Given the description of an element on the screen output the (x, y) to click on. 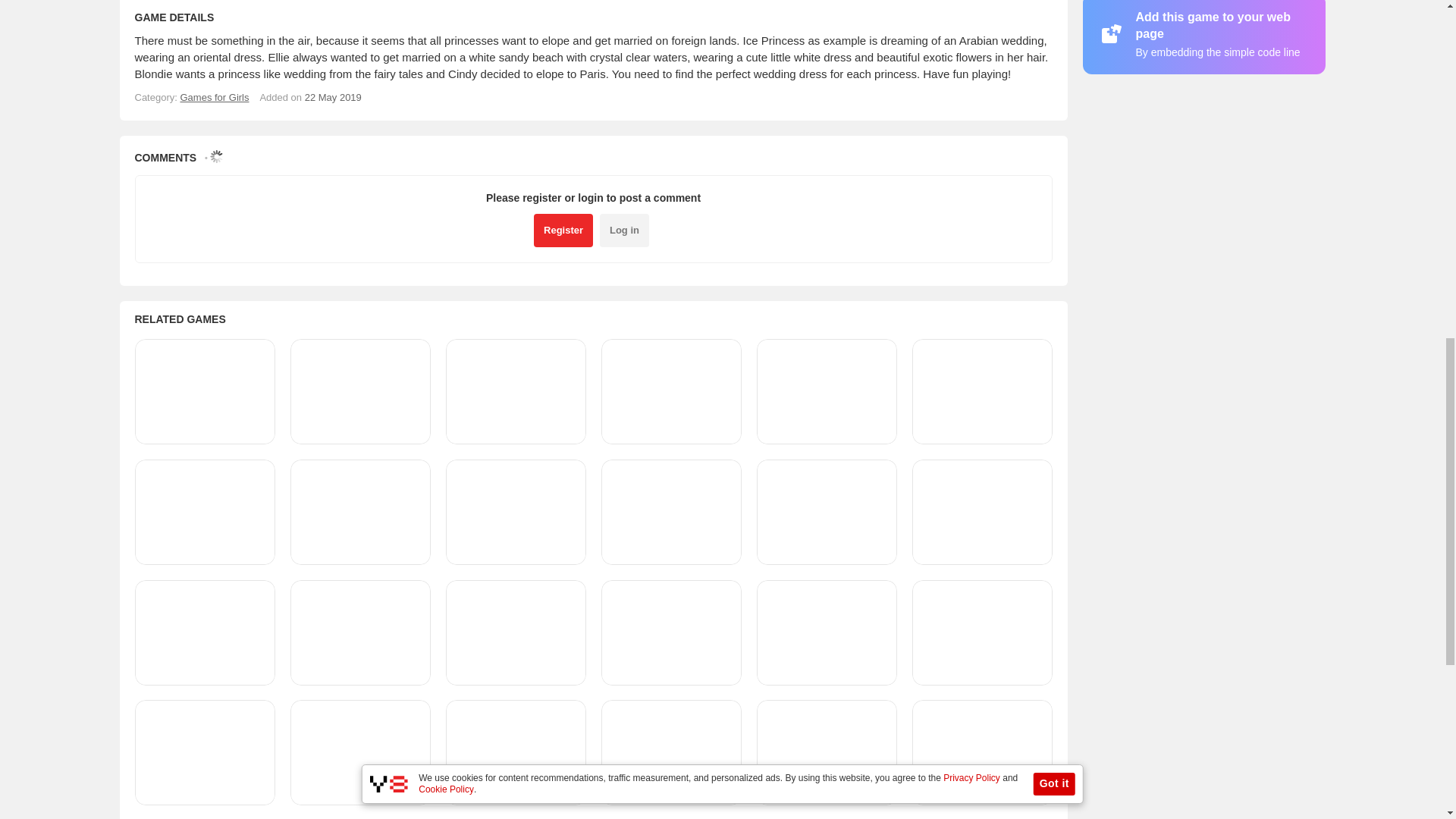
Girls (213, 97)
